Given the description of an element on the screen output the (x, y) to click on. 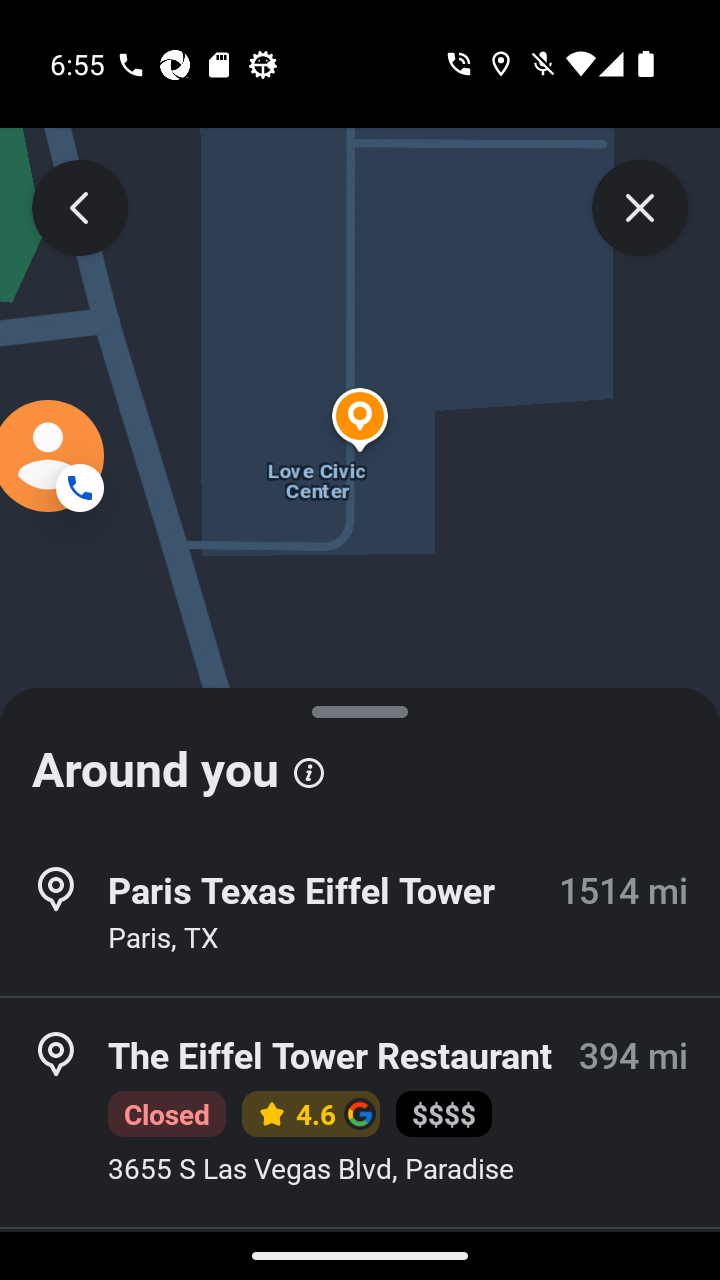
Around you (360, 760)
Paris Texas Eiffel Tower 1514 mi Paris, TX (360, 914)
Eiffel Tower Park 1864 mi (360, 1254)
